Given the description of an element on the screen output the (x, y) to click on. 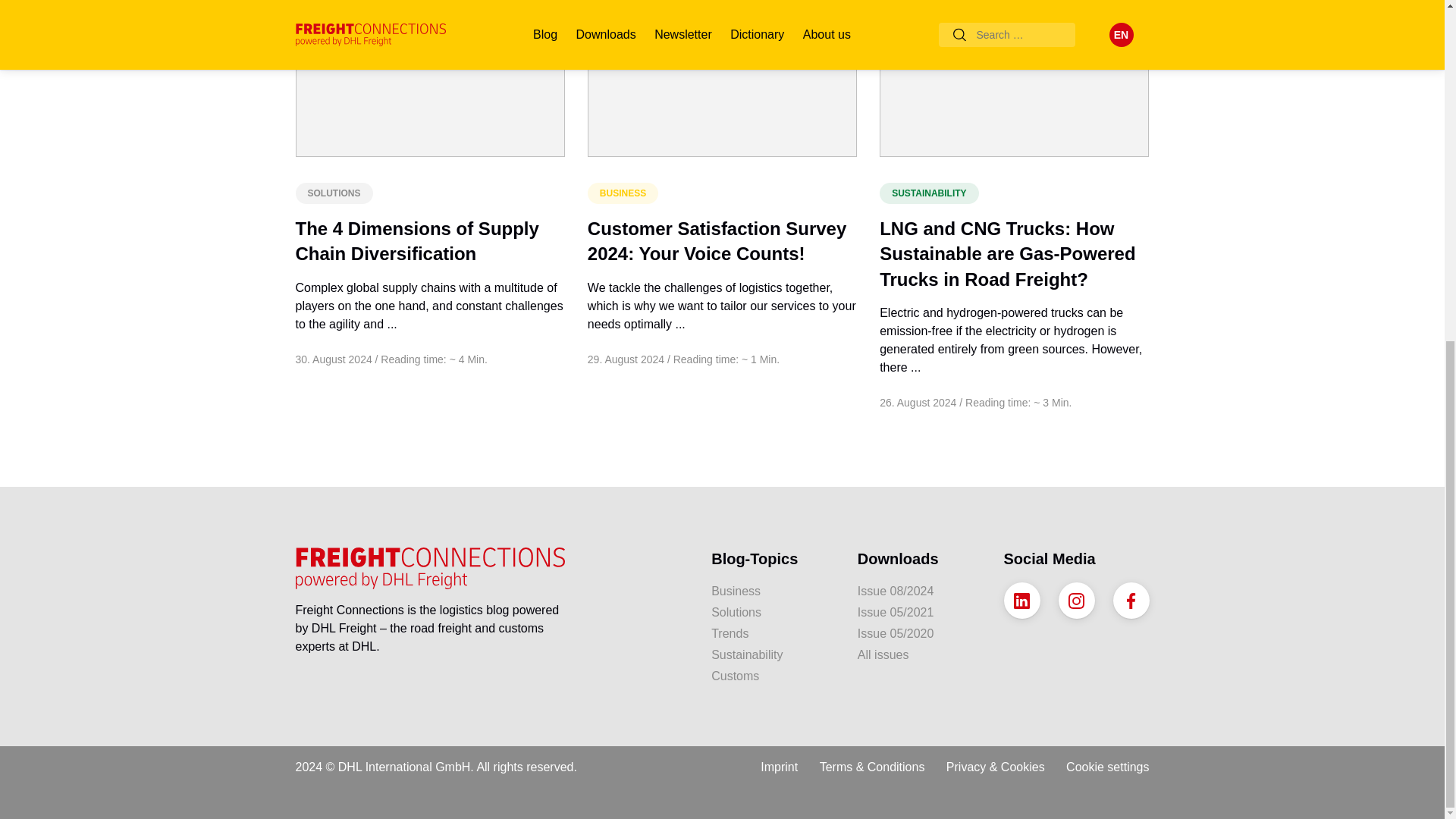
Customer Satisfaction Survey 2024: Your Voice Counts! (716, 241)
Cookie settings (1106, 761)
Imprint (778, 761)
All issues (919, 655)
Trends (772, 633)
The 4 Dimensions of Supply Chain Diversification (416, 241)
Sustainability (772, 655)
Business (772, 591)
Customs (772, 676)
